Given the description of an element on the screen output the (x, y) to click on. 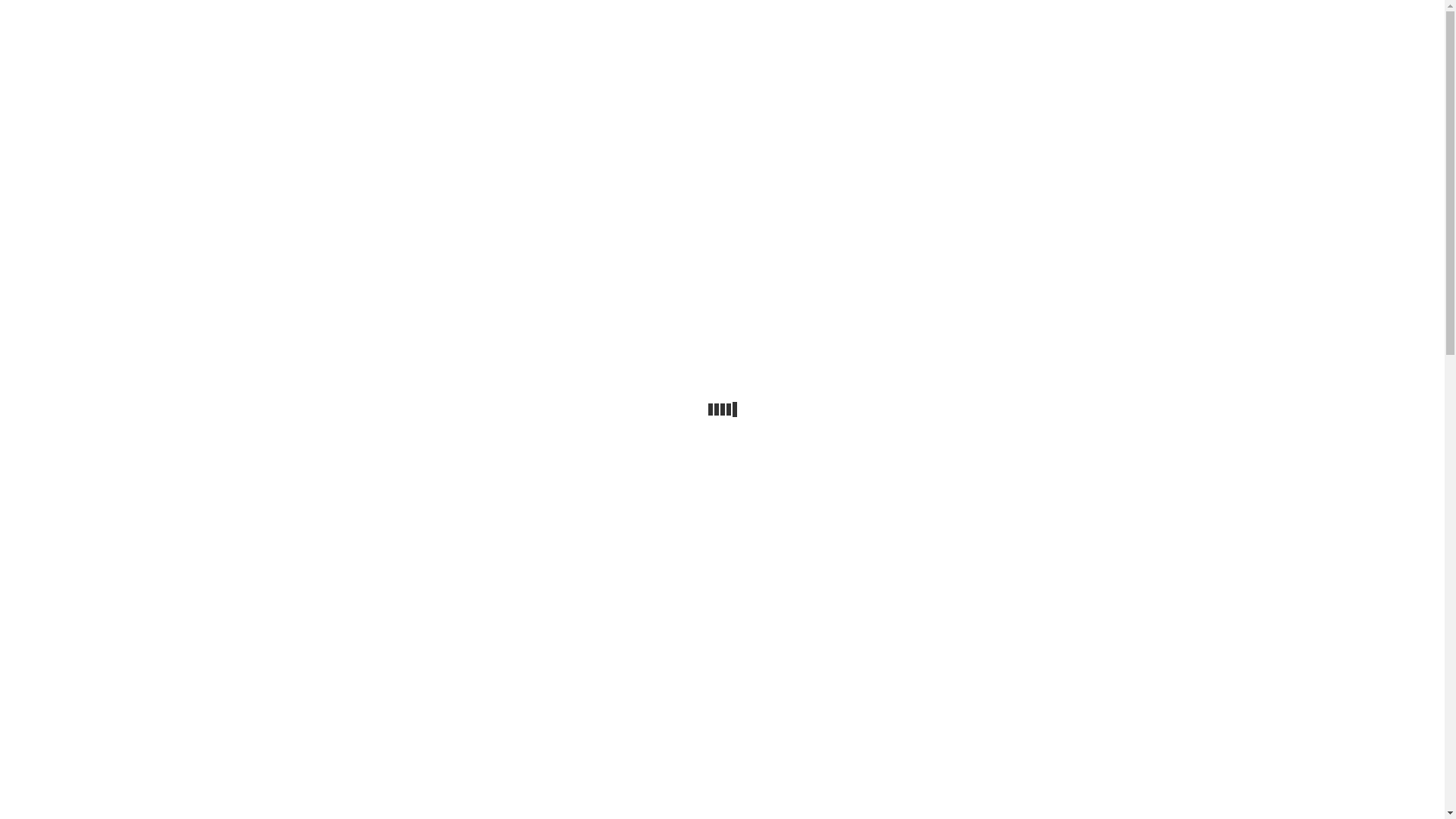
Advertisement Element type: hover (721, 205)
Goroda.by Element type: text (1124, 17)
